Given the description of an element on the screen output the (x, y) to click on. 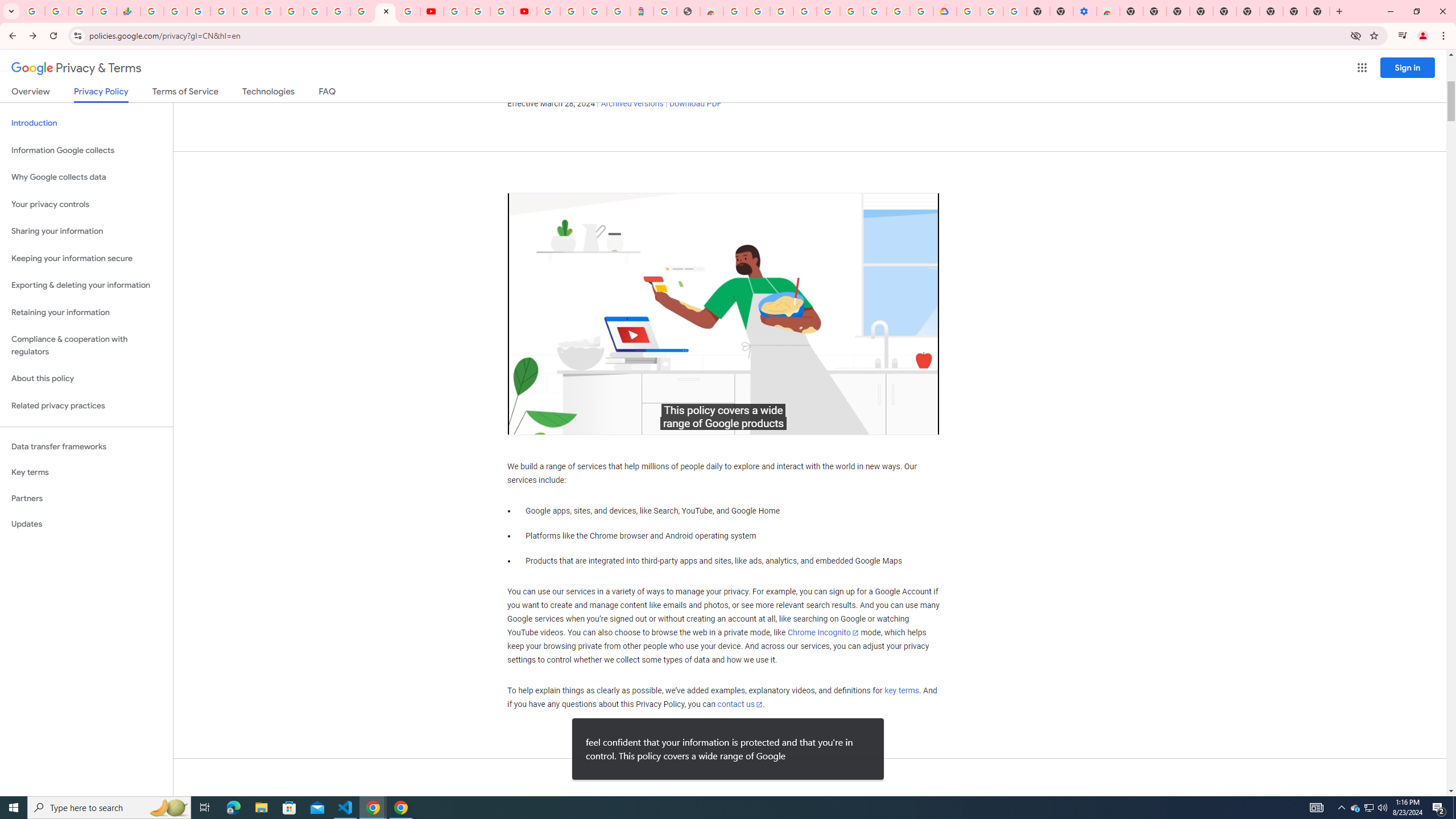
Browse the Google Chrome Community - Google Chrome Community (921, 11)
Turn cookies on or off - Computer - Google Account Help (1015, 11)
key terms (900, 691)
Create your Google Account (501, 11)
Seek slider (723, 409)
